Given the description of an element on the screen output the (x, y) to click on. 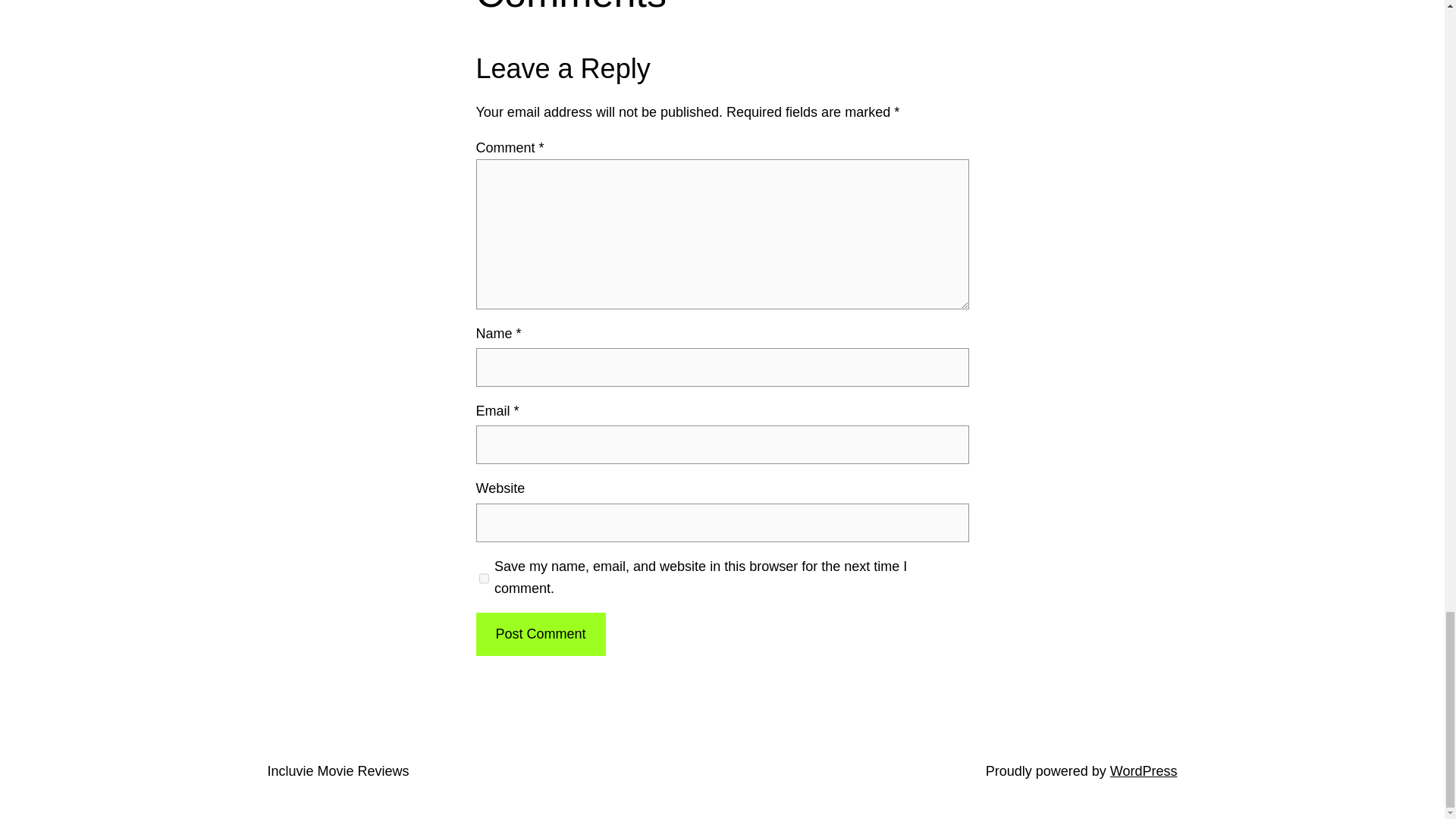
Incluvie Movie Reviews (337, 770)
WordPress (1143, 770)
Post Comment (540, 634)
Post Comment (540, 634)
